Given the description of an element on the screen output the (x, y) to click on. 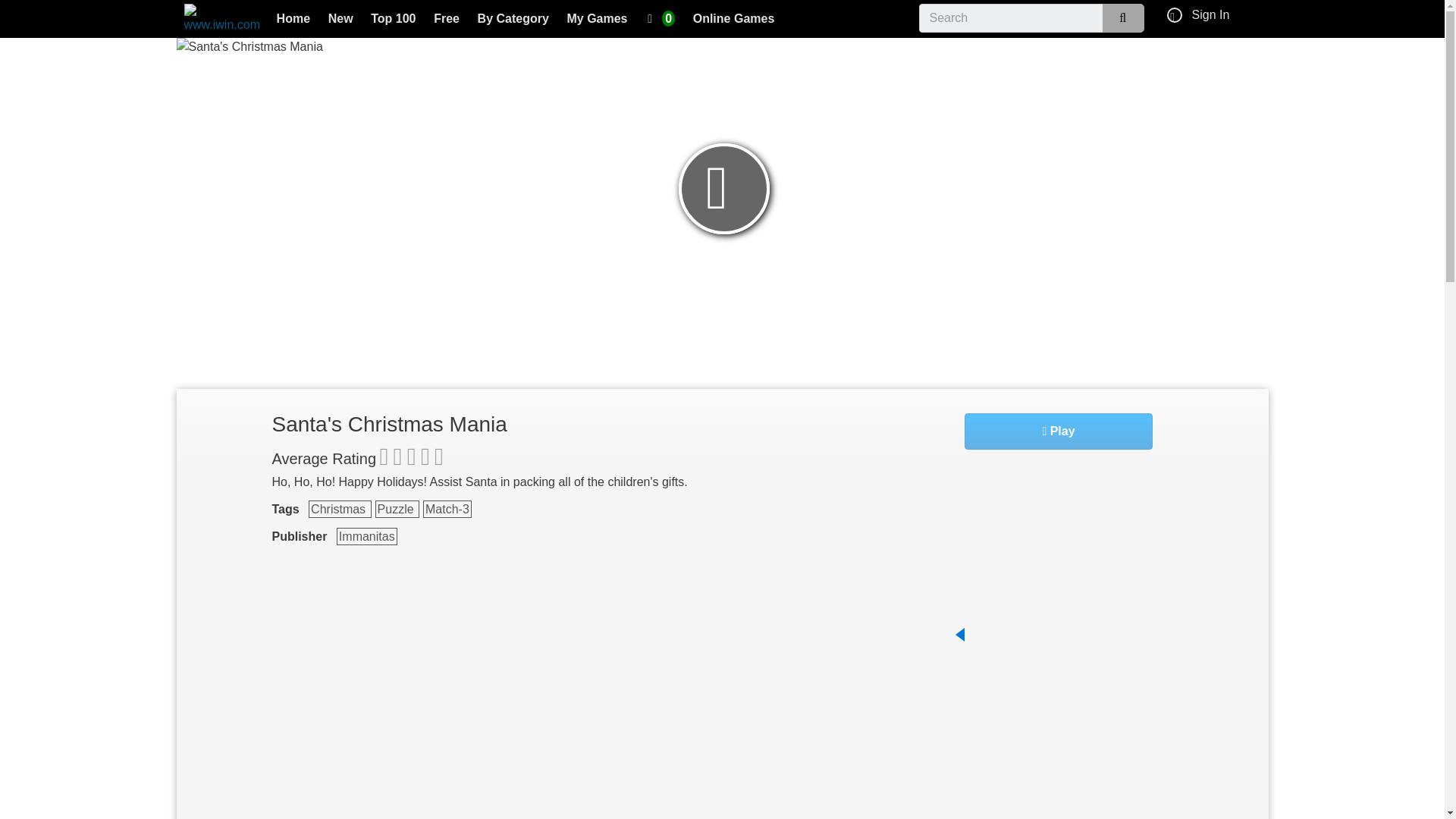
0 (660, 20)
See Puzzle Games (397, 508)
My Games (596, 20)
www.iwin.com (221, 19)
New (339, 20)
Online Games (733, 20)
See Christmas Games (339, 508)
By Category (513, 20)
See Match-3 Games (447, 508)
Home (293, 20)
Sign In (1211, 14)
Play (1058, 431)
Top 100 (393, 20)
Free (446, 20)
